Given the description of an element on the screen output the (x, y) to click on. 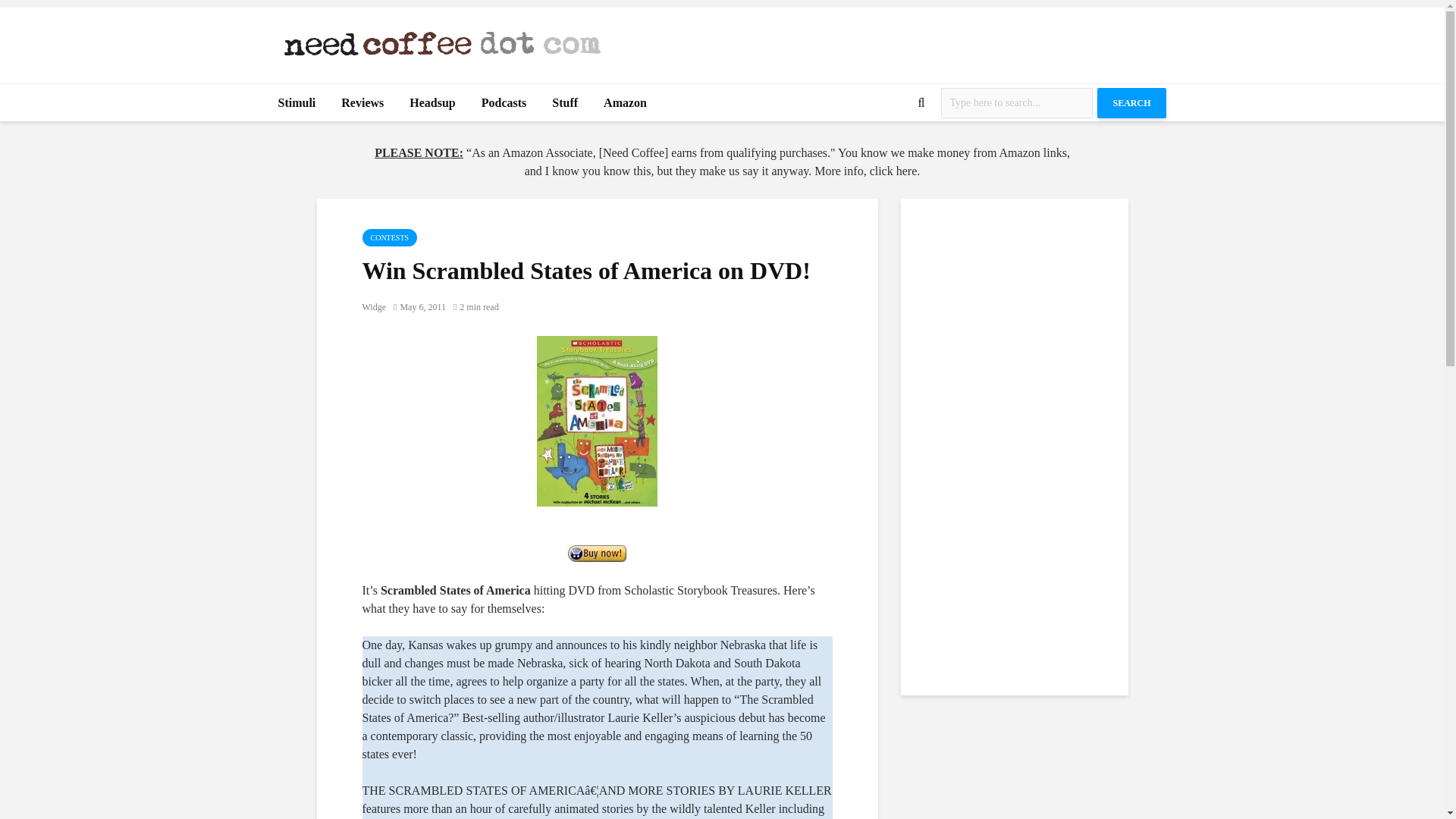
Widge (374, 307)
Headsup (431, 103)
Stimuli (296, 103)
SEARCH (1131, 102)
Podcasts (504, 103)
Stuff (564, 103)
Reviews (362, 103)
Advertisement (890, 41)
click here. (894, 170)
Amazon (625, 103)
CONTESTS (389, 237)
